Given the description of an element on the screen output the (x, y) to click on. 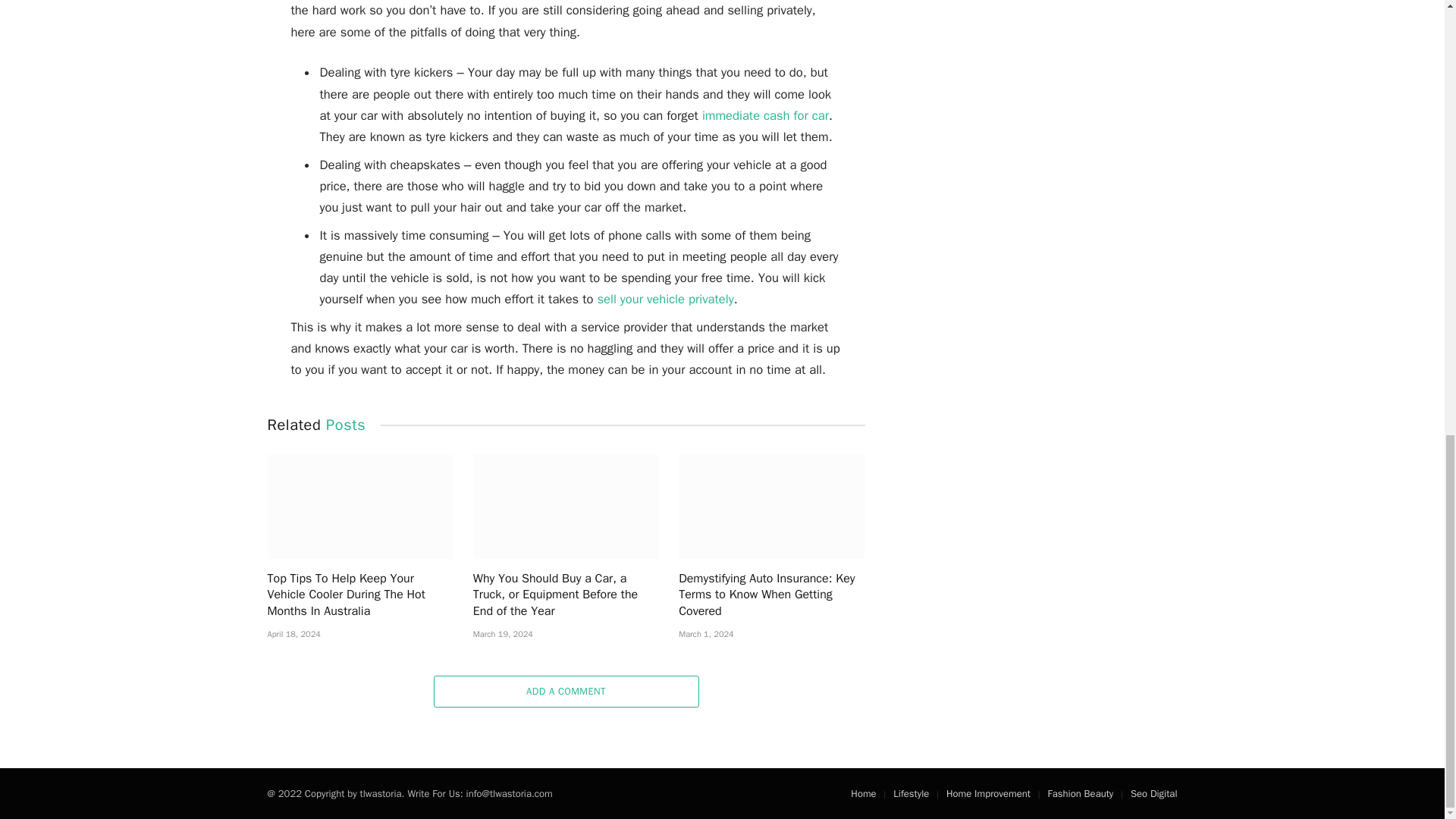
immediate cash (747, 115)
